Given the description of an element on the screen output the (x, y) to click on. 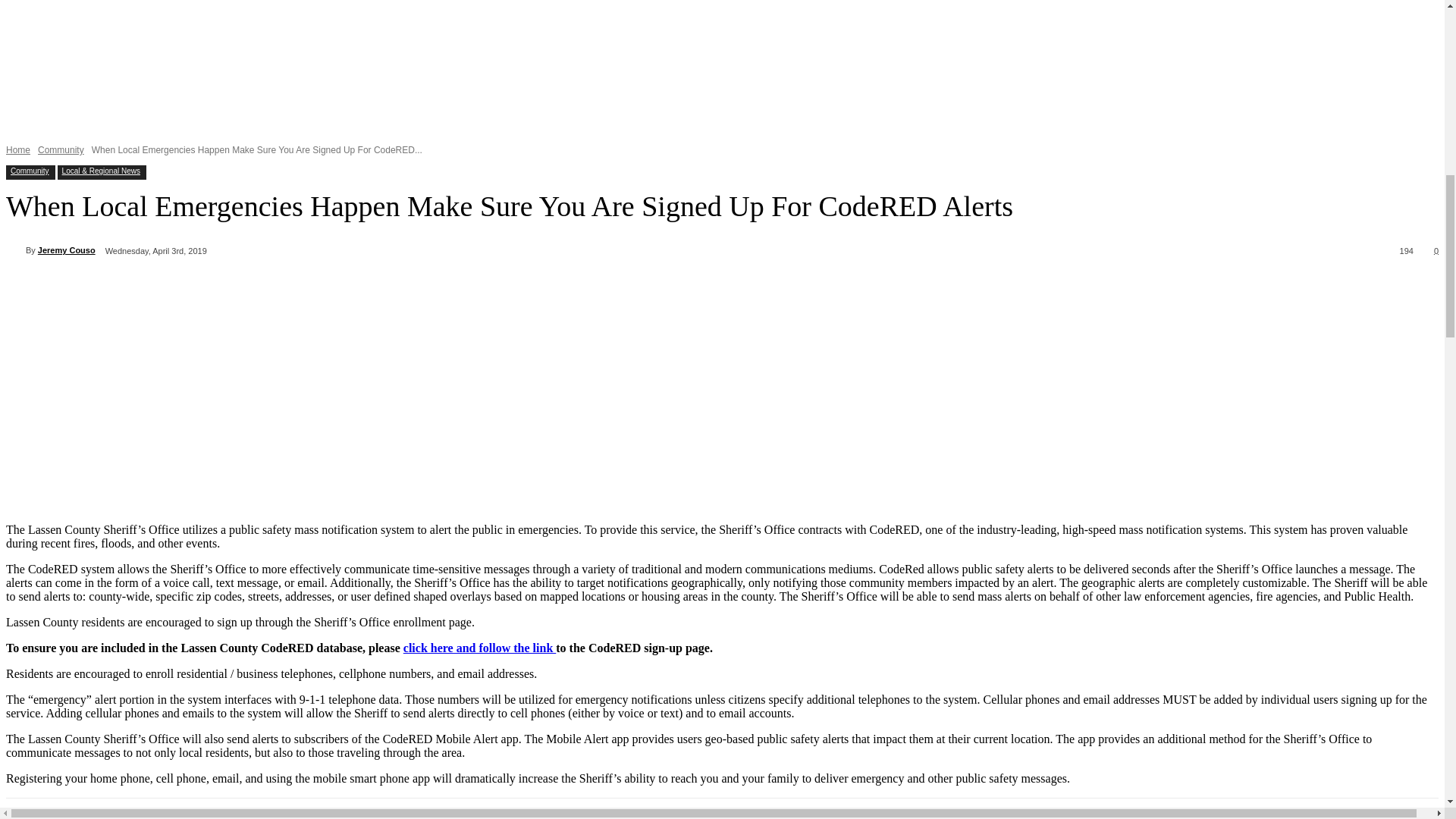
Jeremy Couso (15, 249)
lassenrents960 (722, 70)
View all posts in Community (60, 149)
